Given the description of an element on the screen output the (x, y) to click on. 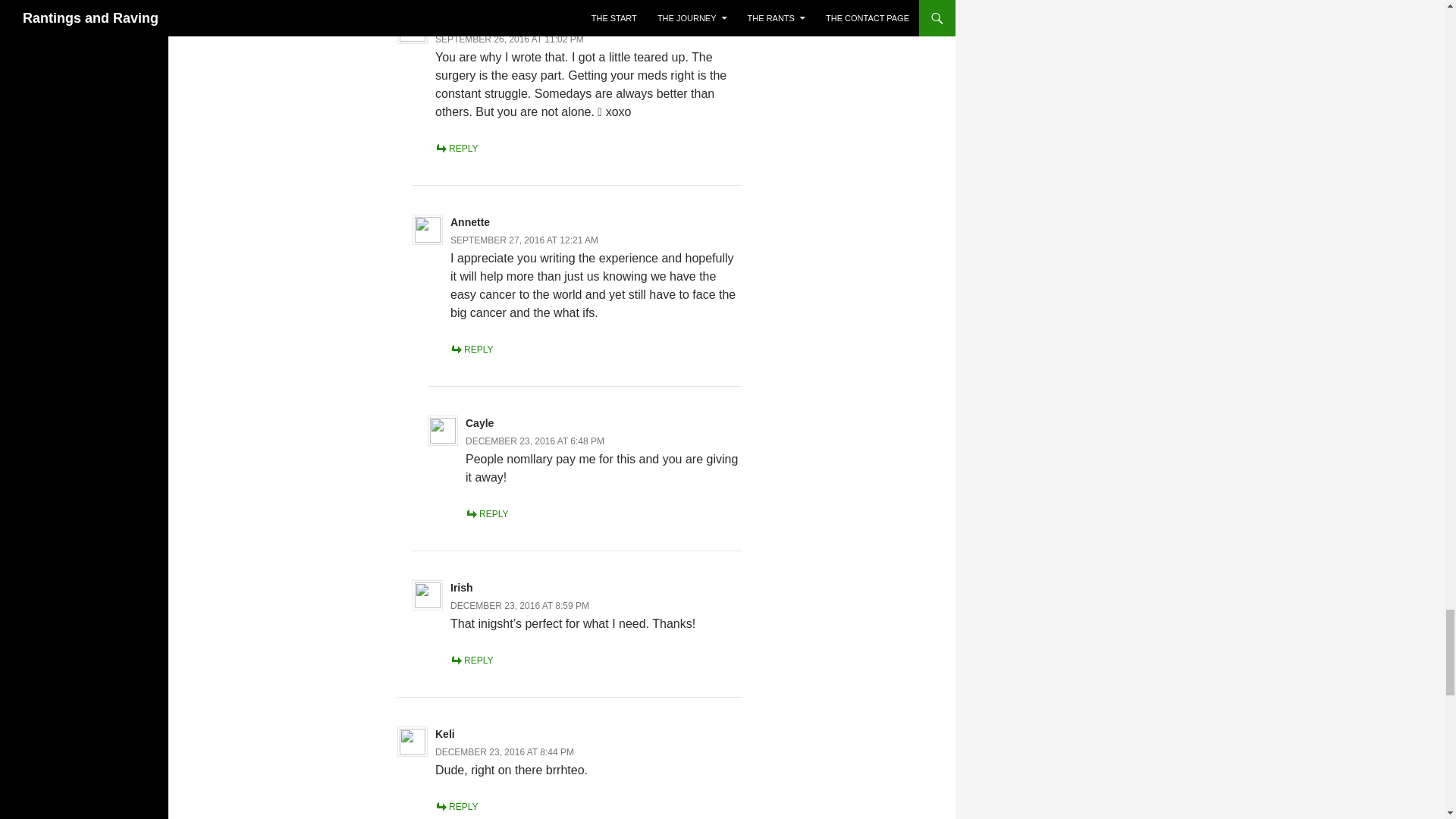
Cayle (479, 422)
SEPTEMBER 27, 2016 AT 12:21 AM (523, 240)
DECEMBER 23, 2016 AT 6:48 PM (534, 440)
DECEMBER 23, 2016 AT 8:59 PM (519, 605)
Nichole Kay (477, 21)
REPLY (486, 513)
REPLY (471, 348)
REPLY (471, 660)
SEPTEMBER 26, 2016 AT 11:02 PM (509, 39)
Irish (461, 587)
